Given the description of an element on the screen output the (x, y) to click on. 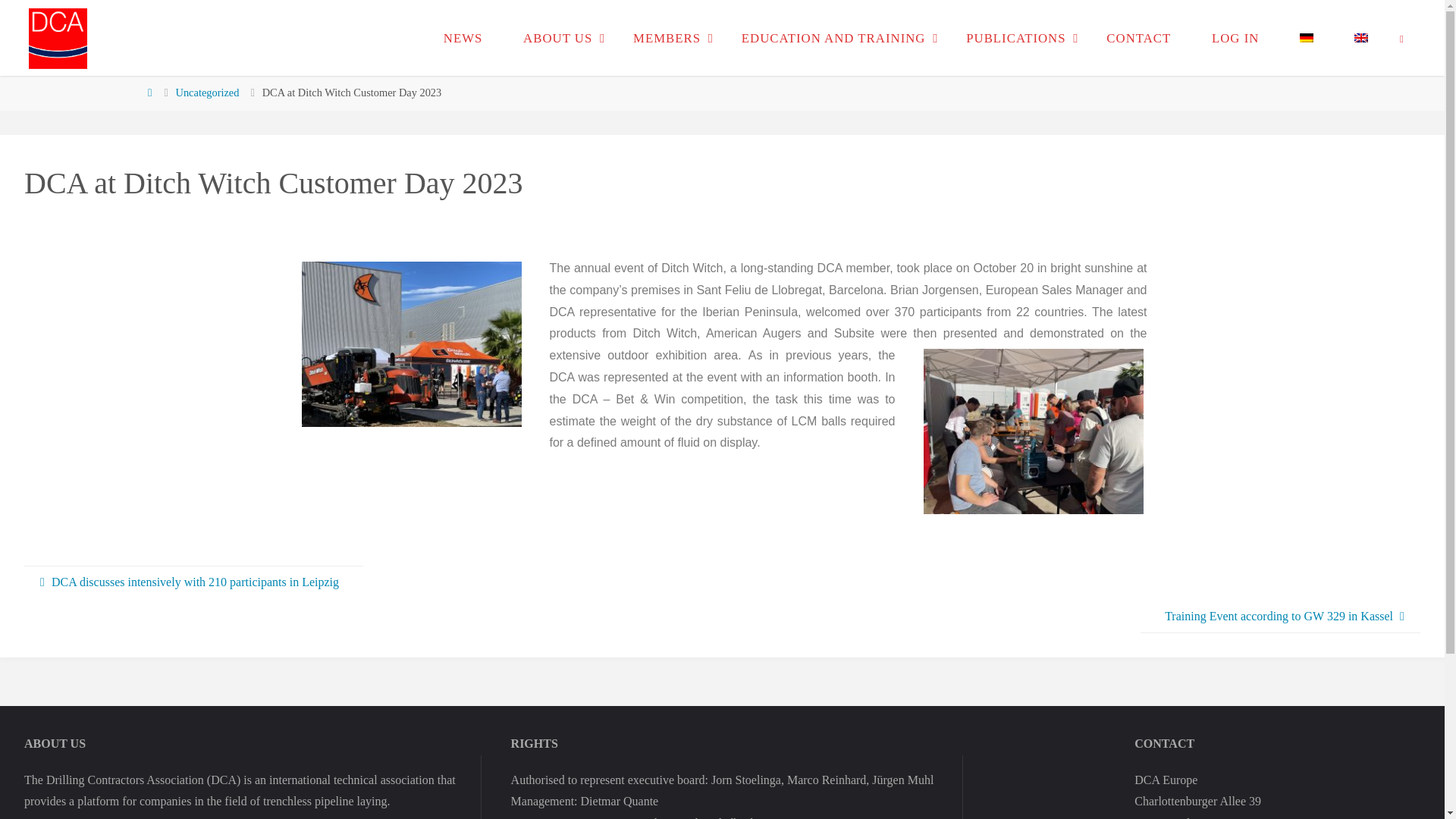
DCA EUROPE (134, 64)
DCA Europe (58, 37)
